Given the description of an element on the screen output the (x, y) to click on. 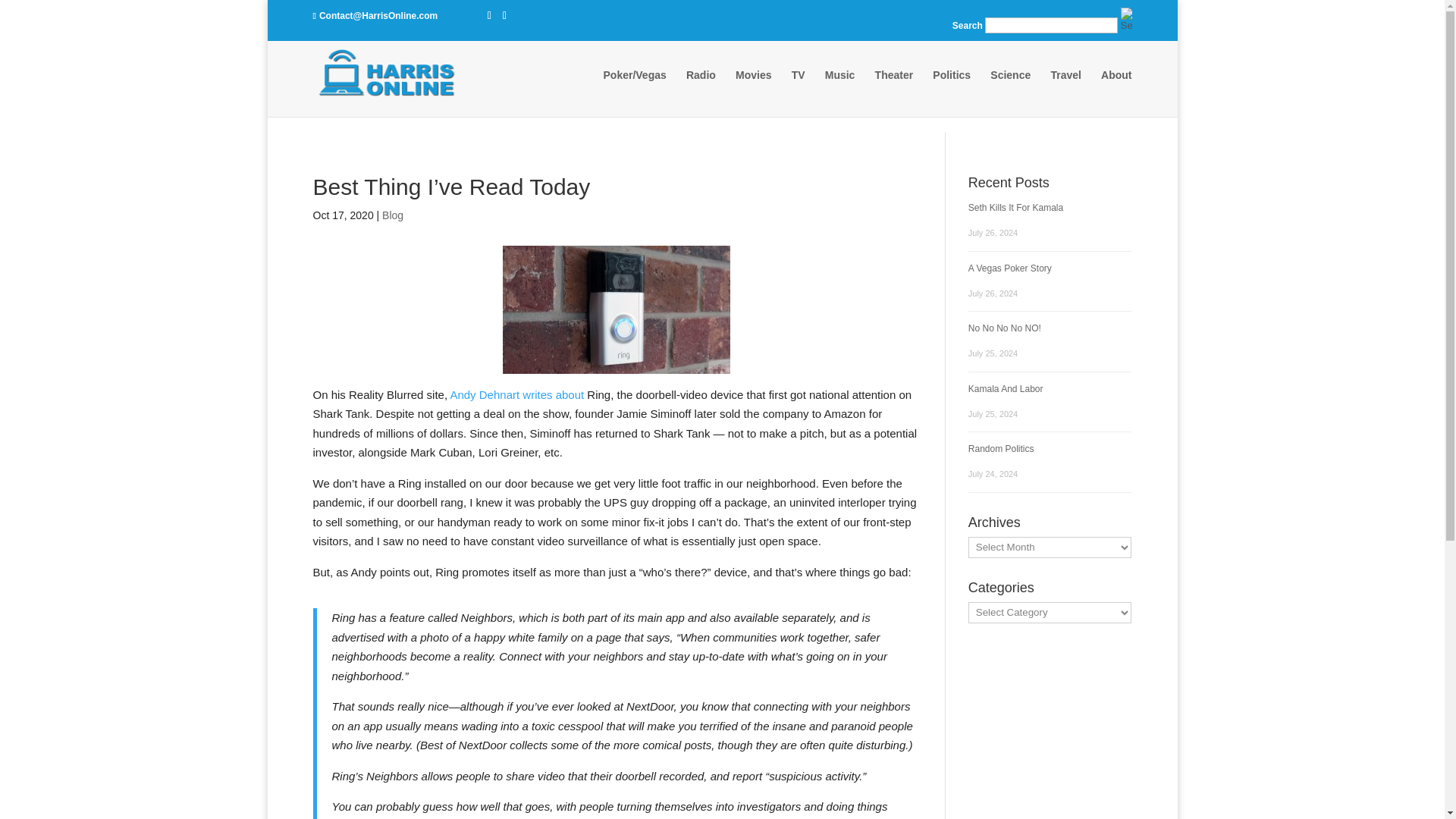
Science (1010, 88)
Theater (894, 88)
No No No No NO! (1004, 327)
Kamala And Labor (1005, 388)
Search (790, 134)
Andy Dehnart writes about (516, 394)
A Vegas Poker Story (1009, 267)
Seth Kills It For Kamala (1015, 207)
Politics (952, 88)
Blog (392, 215)
Random Politics (1000, 448)
Movies (753, 88)
